Given the description of an element on the screen output the (x, y) to click on. 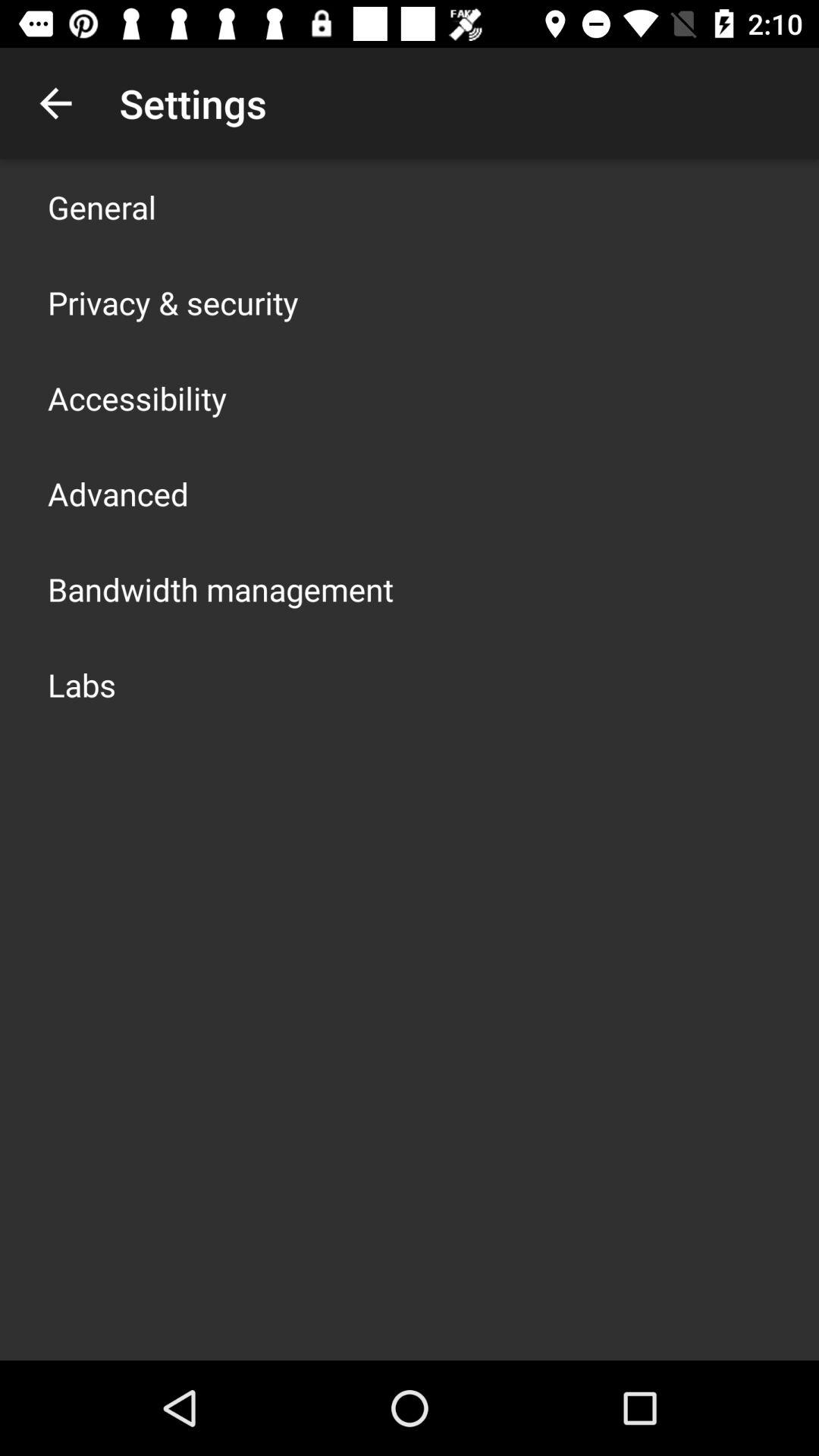
turn off the icon above bandwidth management item (117, 493)
